Given the description of an element on the screen output the (x, y) to click on. 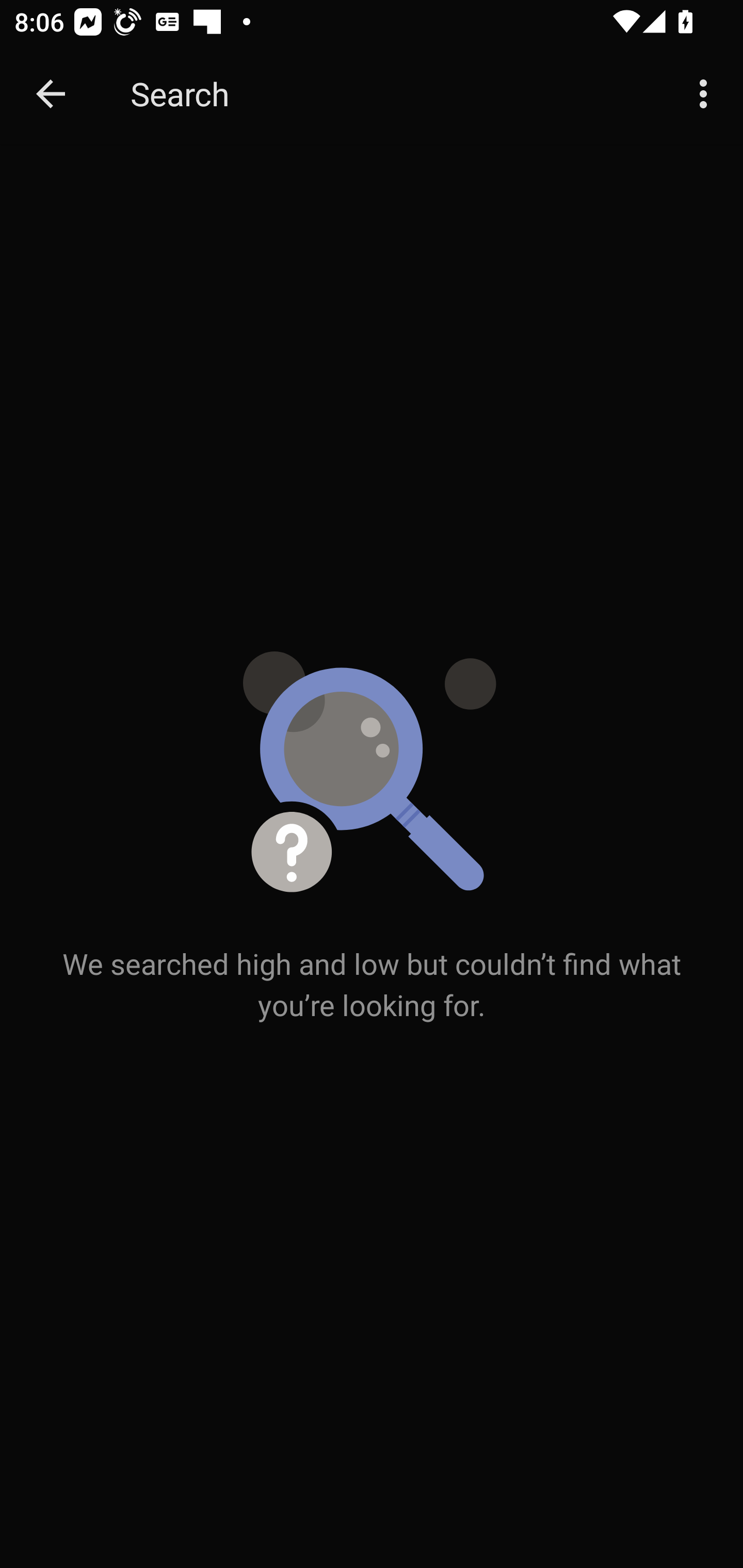
Navigate up (50, 93)
More options (706, 93)
Search (393, 94)
